Given the description of an element on the screen output the (x, y) to click on. 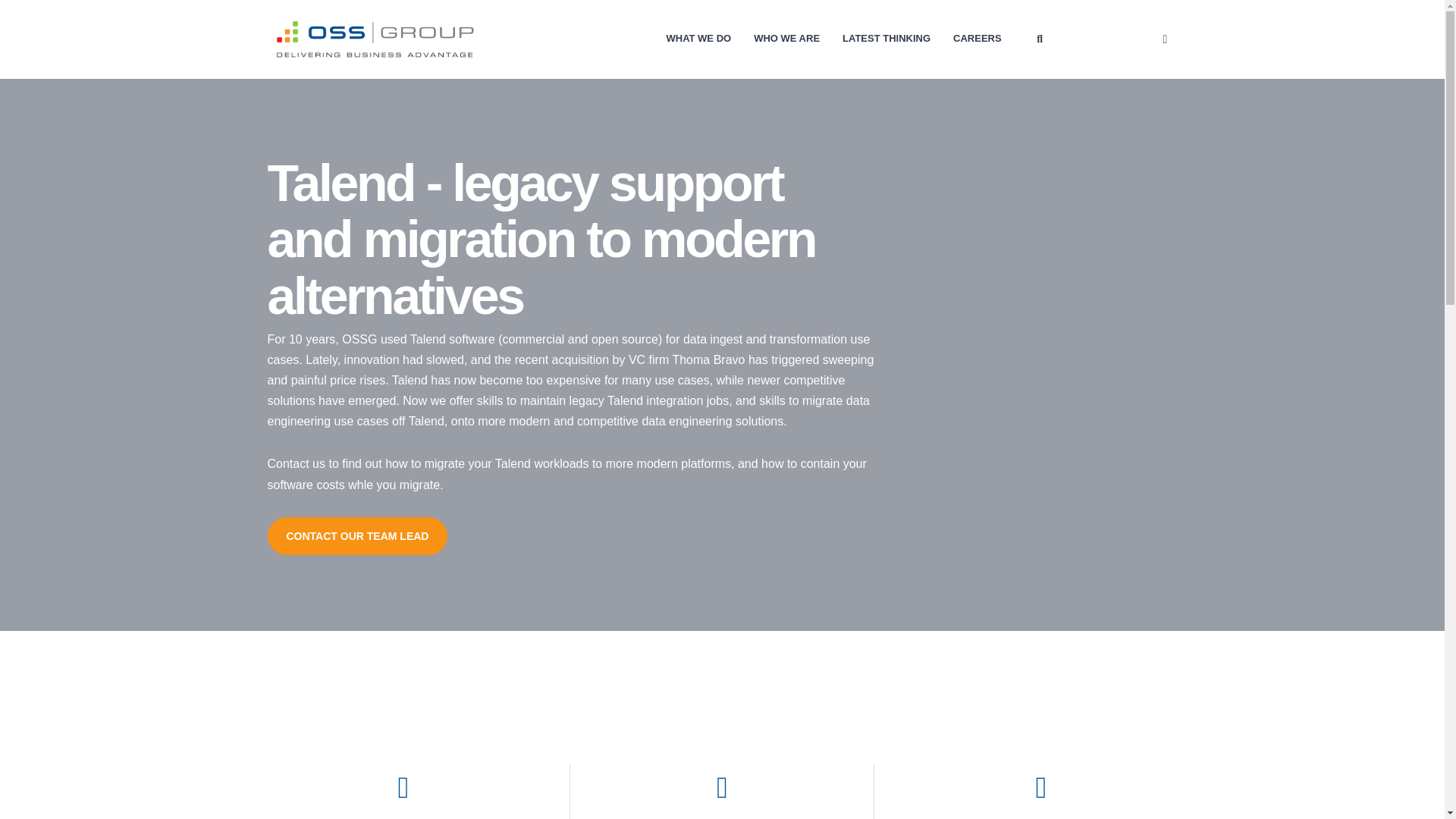
CAREERS (977, 38)
OSS Group Logo - transparent (373, 39)
LATEST THINKING (886, 38)
WHAT WE DO (697, 38)
WHO WE ARE (786, 38)
